Given the description of an element on the screen output the (x, y) to click on. 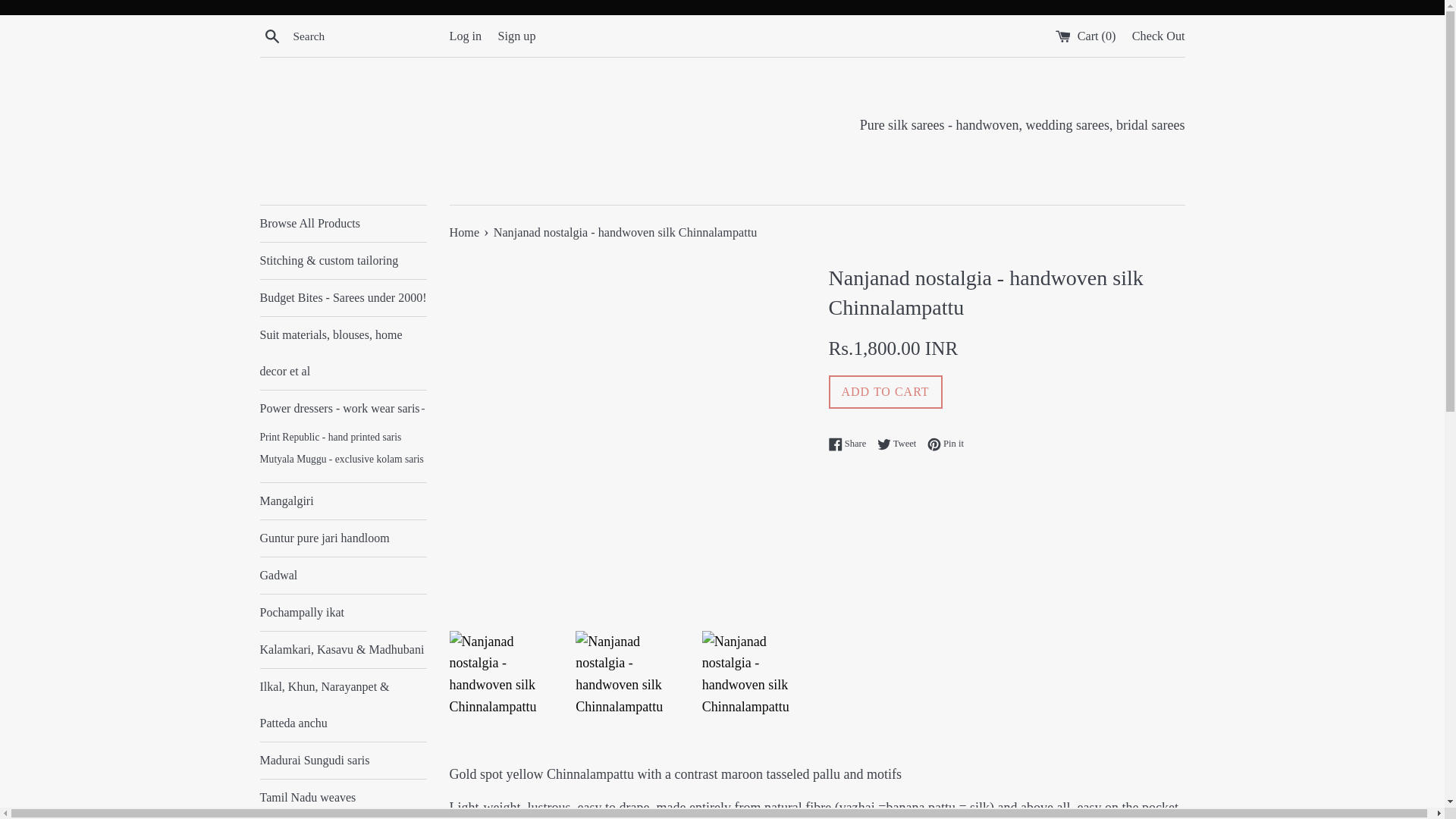
Home (464, 232)
Share on Facebook (850, 443)
Gadwal (342, 575)
Log in (464, 35)
Budget Bites - Sarees under 2000! (342, 298)
Heirloom silk saris (342, 817)
Back to the frontpage (464, 232)
Mutyala Muggu - exclusive kolam saris (342, 459)
Tweet on Twitter (900, 443)
Suit materials, blouses, home decor et al (342, 408)
Madurai Sungudi saris (342, 352)
Pochampally ikat (342, 760)
Check Out (342, 612)
Print Republic - hand printed saris (1158, 35)
